Given the description of an element on the screen output the (x, y) to click on. 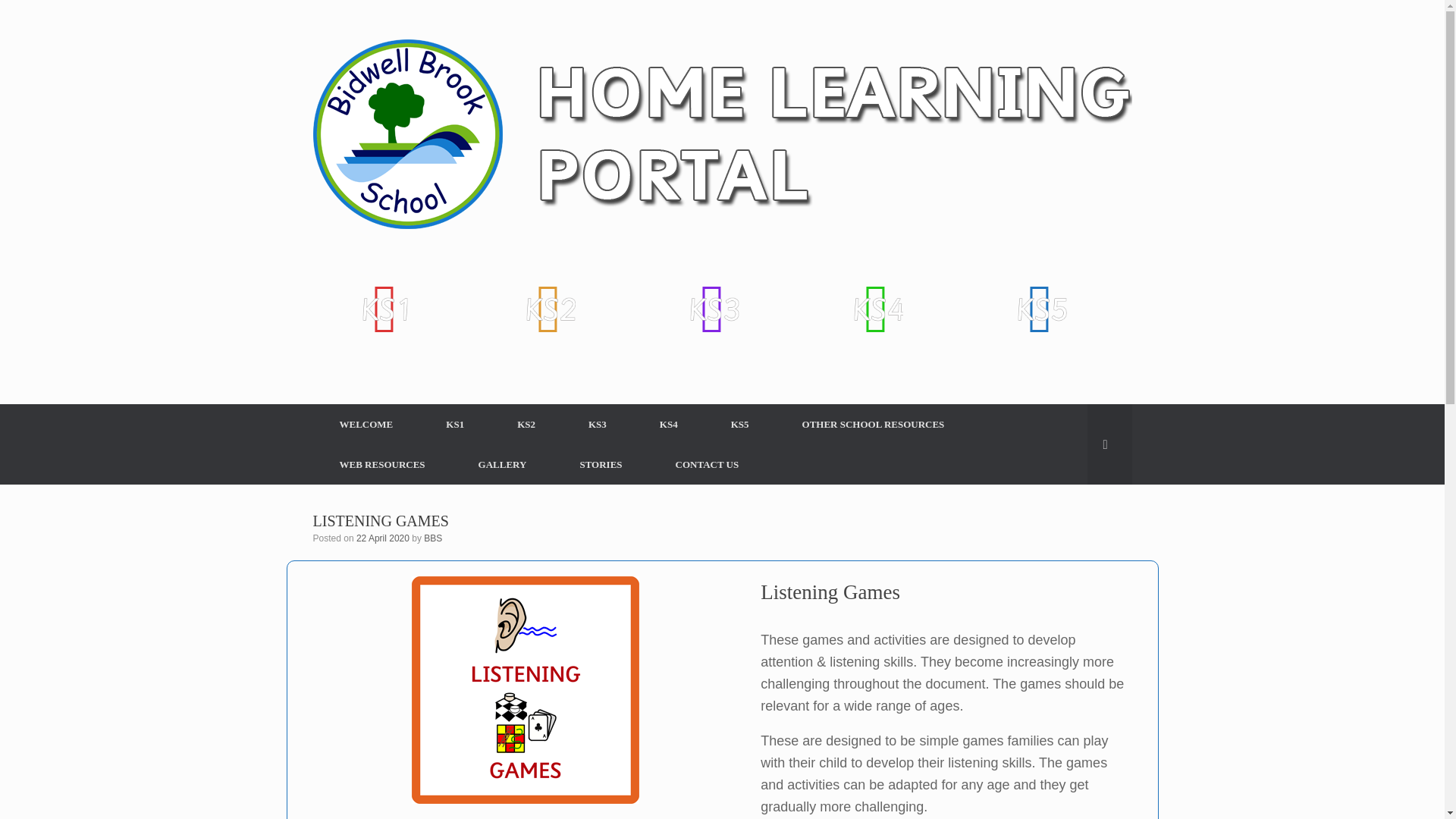
View all posts by BBS (432, 538)
WELCOME (366, 424)
KS5 (740, 424)
22 April 2020 (382, 538)
OTHER SCHOOL RESOURCES (873, 424)
KEY STAGE THREE (712, 309)
KS2 (526, 424)
WEB RESOURCES (382, 464)
KEY STAGE ONE (384, 309)
KS1 (454, 424)
BBS (432, 538)
KS4 (668, 424)
KEY STAGE TWO (549, 309)
KEY STAGE FIVE (1040, 309)
